Given the description of an element on the screen output the (x, y) to click on. 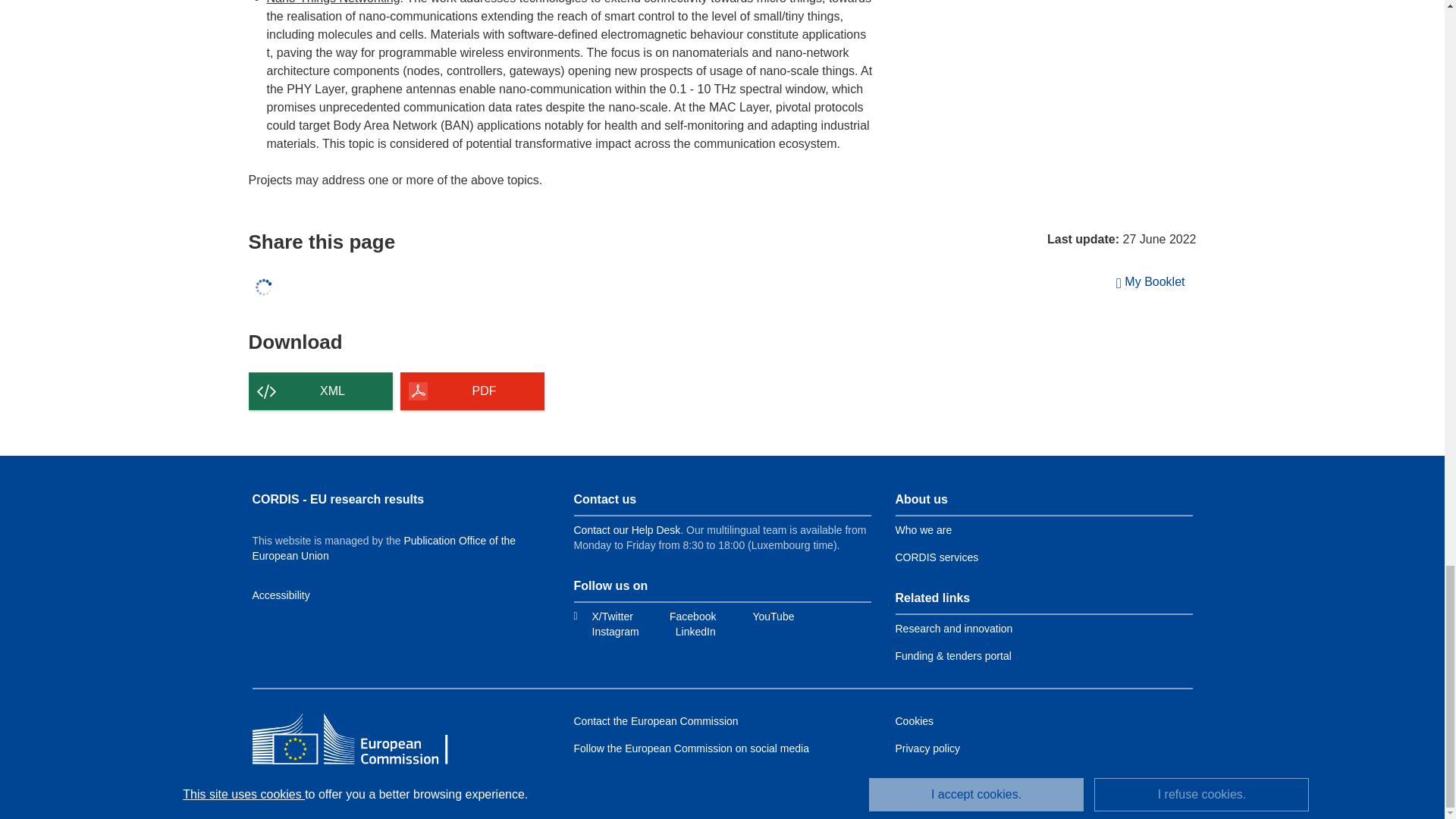
My Booklet (1150, 281)
XML (320, 391)
Contact our Help Desk (626, 530)
PDF (472, 391)
Accessibility (279, 594)
Publication Office of the European Union (383, 547)
European Commission (361, 739)
Facebook (683, 616)
